Given the description of an element on the screen output the (x, y) to click on. 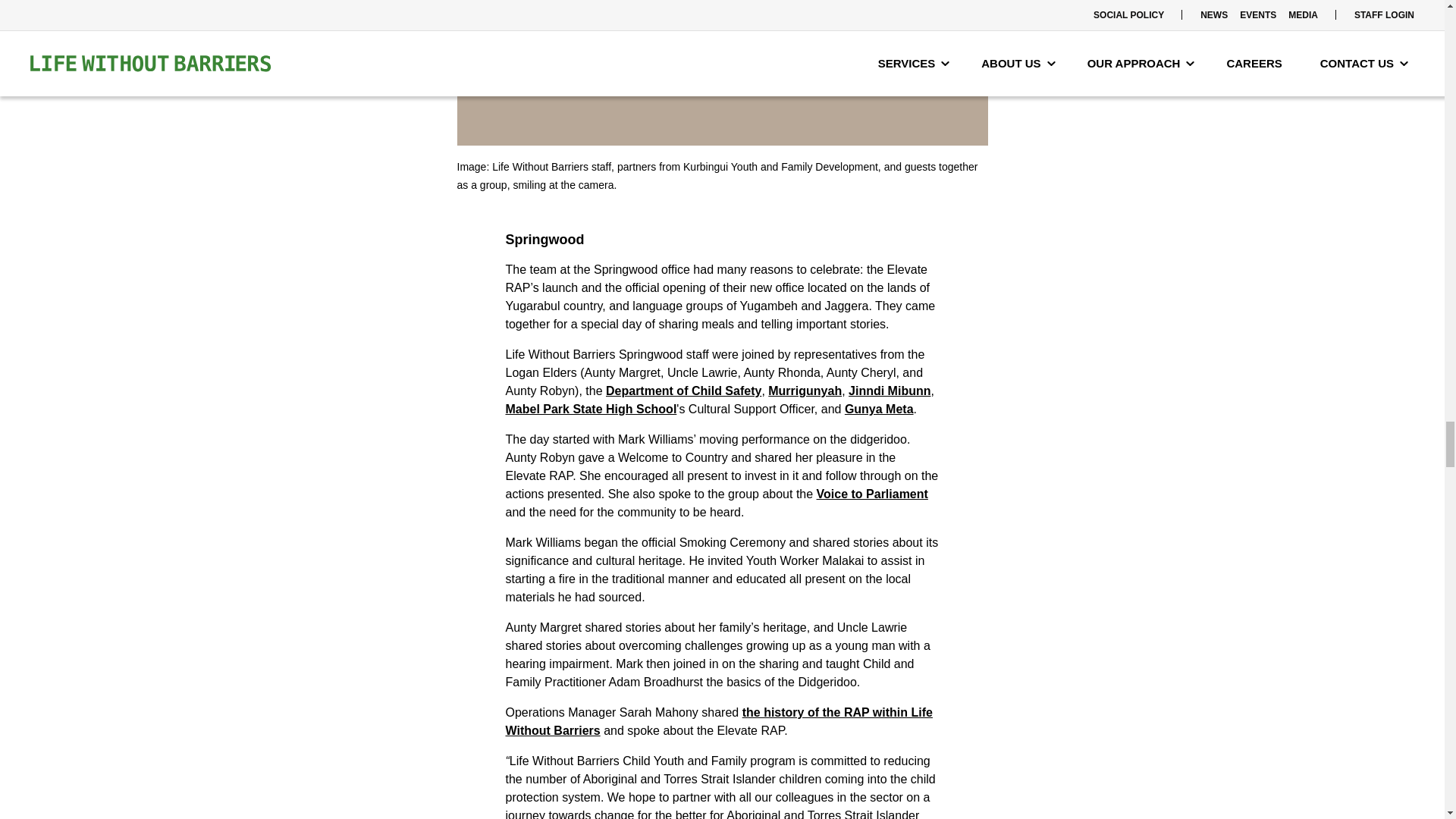
Jinndi Mibunn (889, 390)
Mabel Park State High School (591, 408)
Gunya Meta (879, 408)
Department of Child Safety (683, 390)
the history of the RAP within Life Without Barriers (718, 721)
Voice to Parliament (872, 493)
Murrigunyah (804, 390)
